Given the description of an element on the screen output the (x, y) to click on. 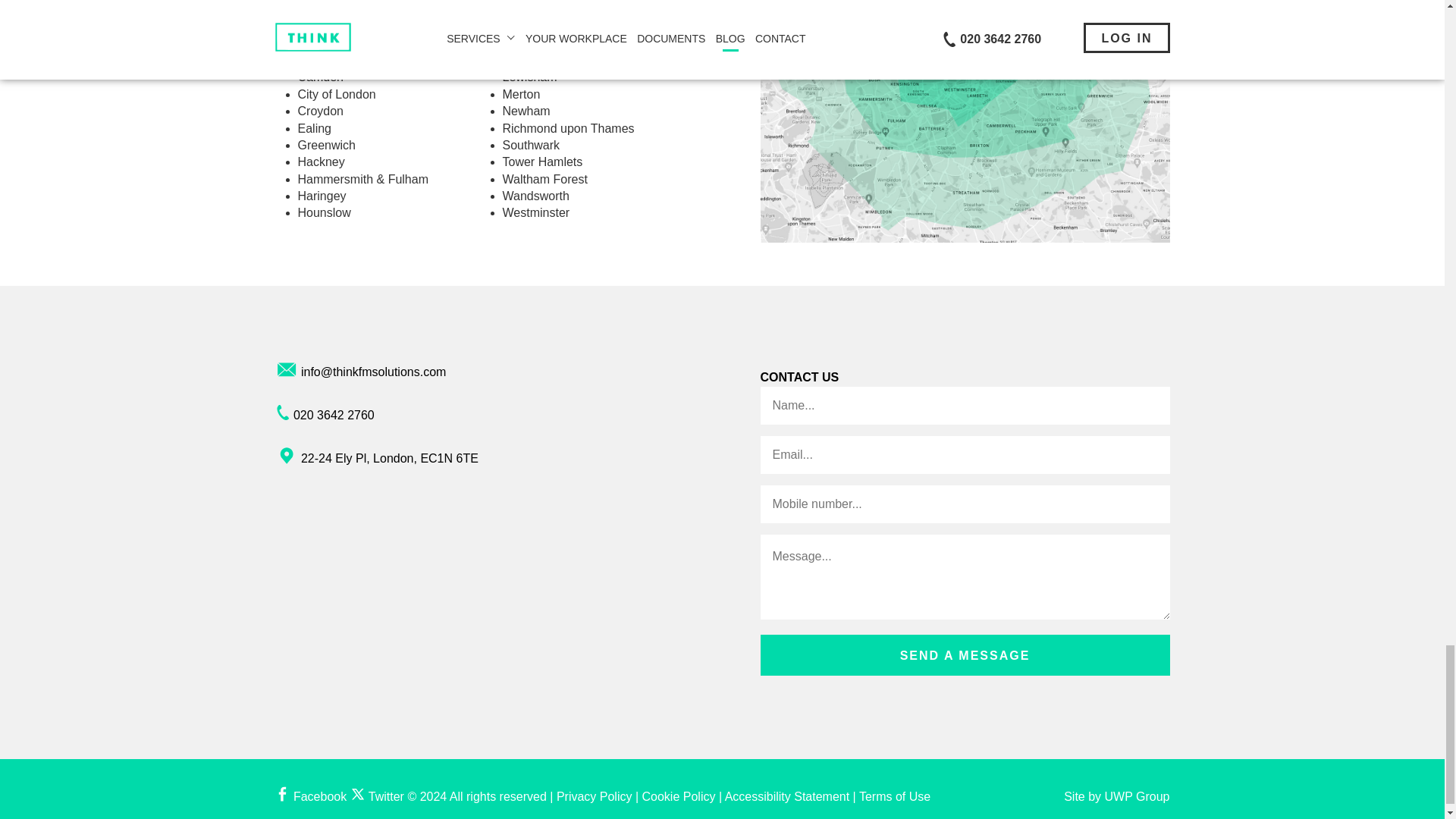
Terms of Use (894, 796)
020 3642 2760 (334, 414)
Facebook (310, 796)
Send a message (964, 654)
Accessibility Statement (787, 796)
Send a message (964, 654)
Cookie Policy (679, 796)
Twitter (377, 796)
Privacy Policy (593, 796)
